Given the description of an element on the screen output the (x, y) to click on. 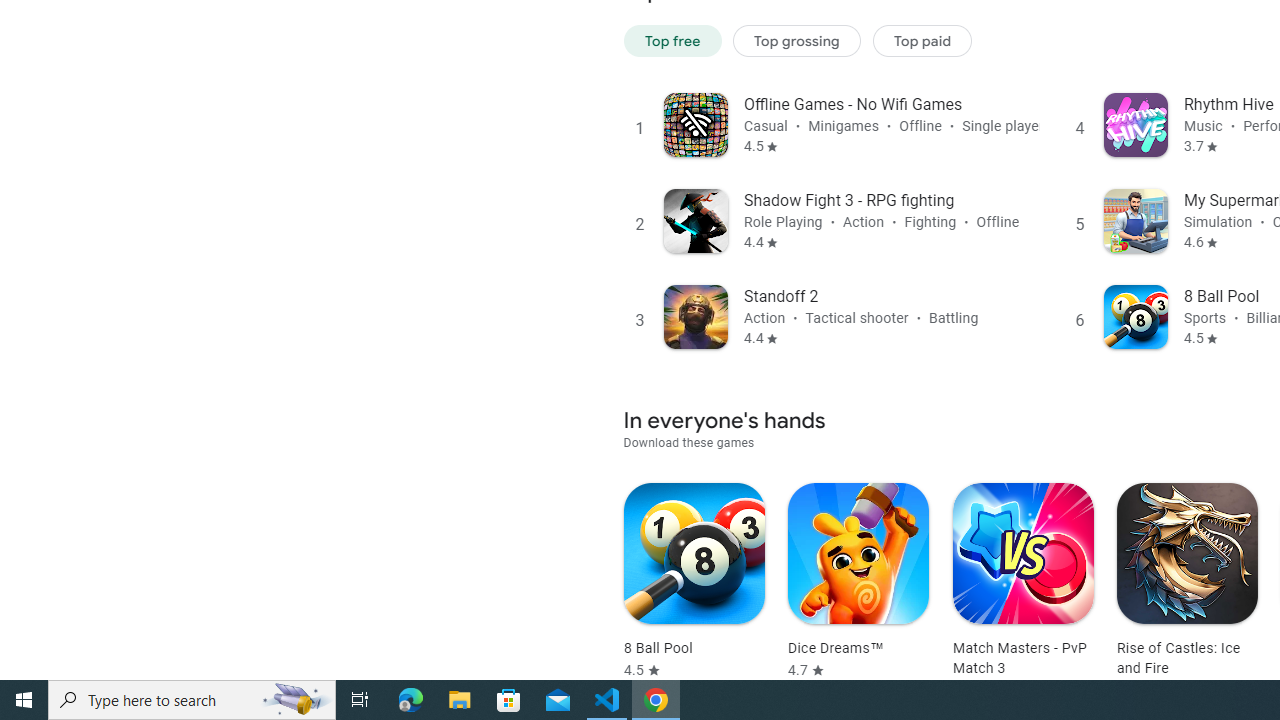
8 Ball Pool Rated 4.5 stars out of five stars (694, 581)
Top grossing (797, 39)
Top paid (922, 39)
Top free (672, 39)
